Given the description of an element on the screen output the (x, y) to click on. 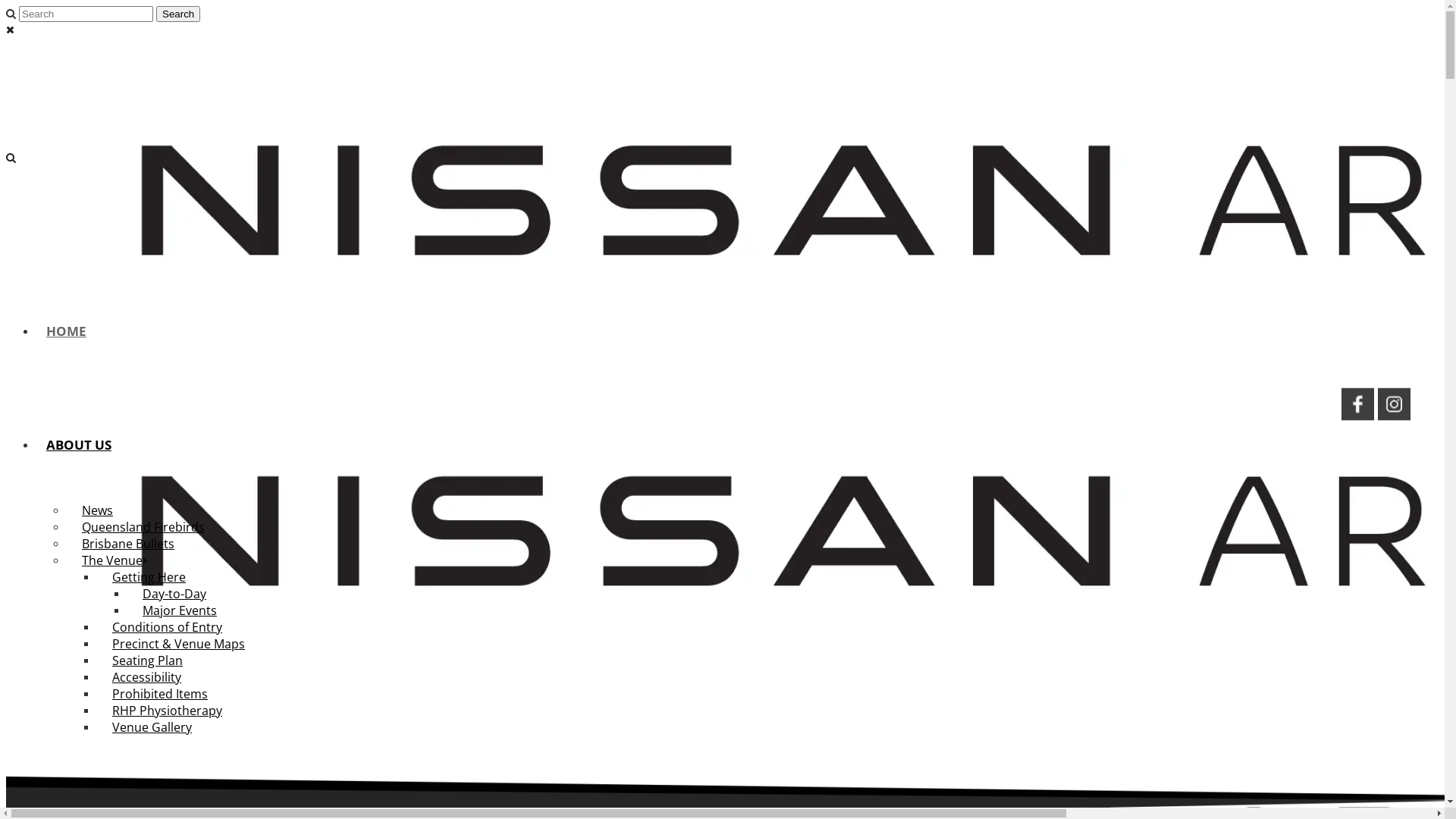
RHP Physiotherapy Element type: text (167, 710)
Accessibility Element type: text (146, 676)
Conditions of Entry Element type: text (167, 626)
Precinct & Venue Maps Element type: text (178, 643)
The Venue Element type: text (114, 559)
ABOUT US Element type: text (78, 444)
Major Events Element type: text (179, 610)
Getting Here Element type: text (148, 576)
Seating Plan Element type: text (147, 660)
Prohibited Items Element type: text (159, 693)
News Element type: text (97, 509)
HOME Element type: text (66, 330)
Day-to-Day Element type: text (174, 593)
Brisbane Bullets Element type: text (127, 543)
Search Element type: text (178, 13)
Venue Gallery Element type: text (152, 726)
Queensland Firebirds Element type: text (142, 526)
